Given the description of an element on the screen output the (x, y) to click on. 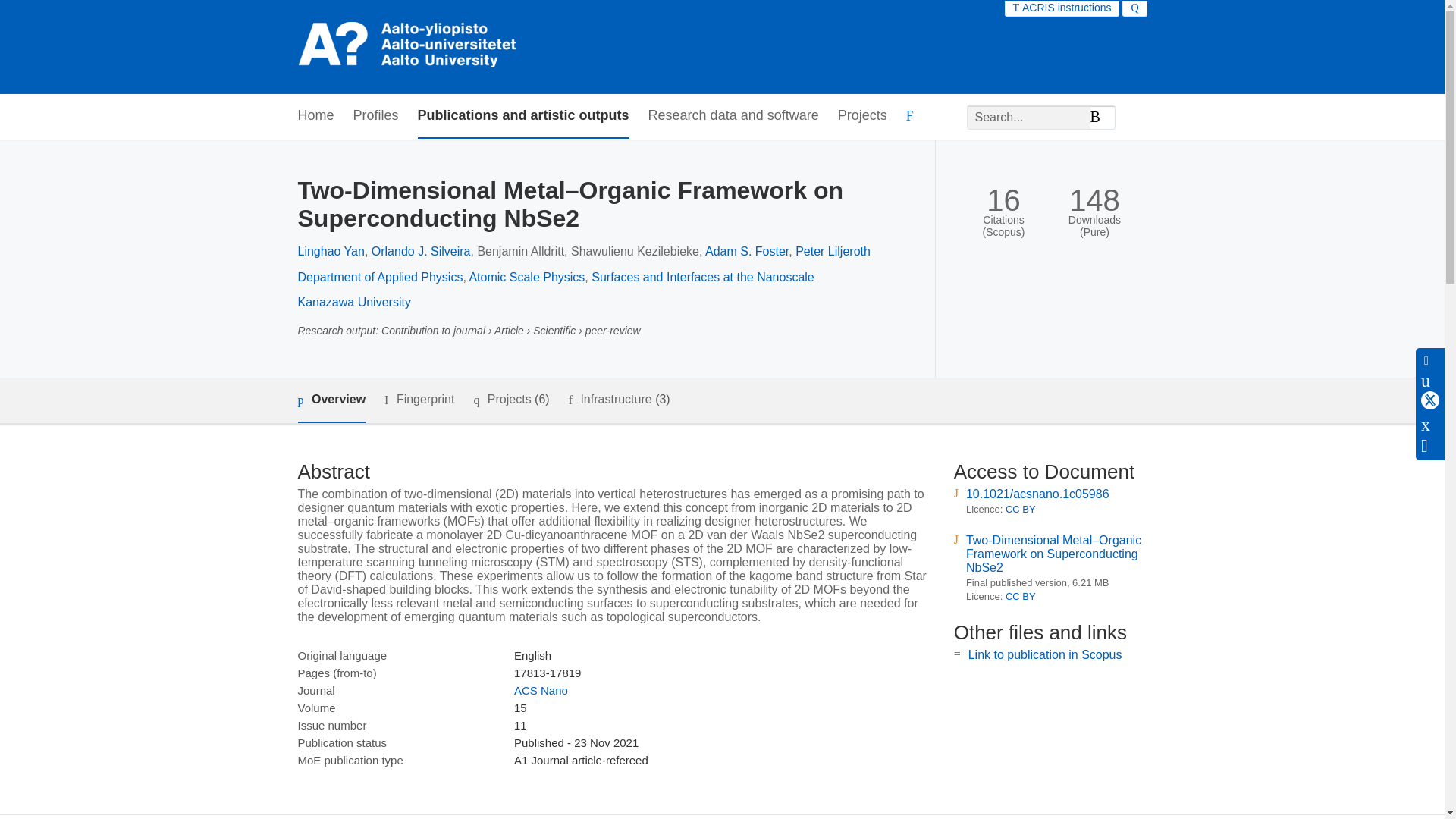
Projects (862, 116)
Profiles (375, 116)
Department of Applied Physics (380, 277)
Research data and software (732, 116)
Overview (331, 400)
ACRIS instructions (1062, 7)
CC BY (1020, 509)
Surfaces and Interfaces at the Nanoscale (702, 277)
Link to publication in Scopus (1045, 654)
Aalto University's research portal Home (409, 46)
